Given the description of an element on the screen output the (x, y) to click on. 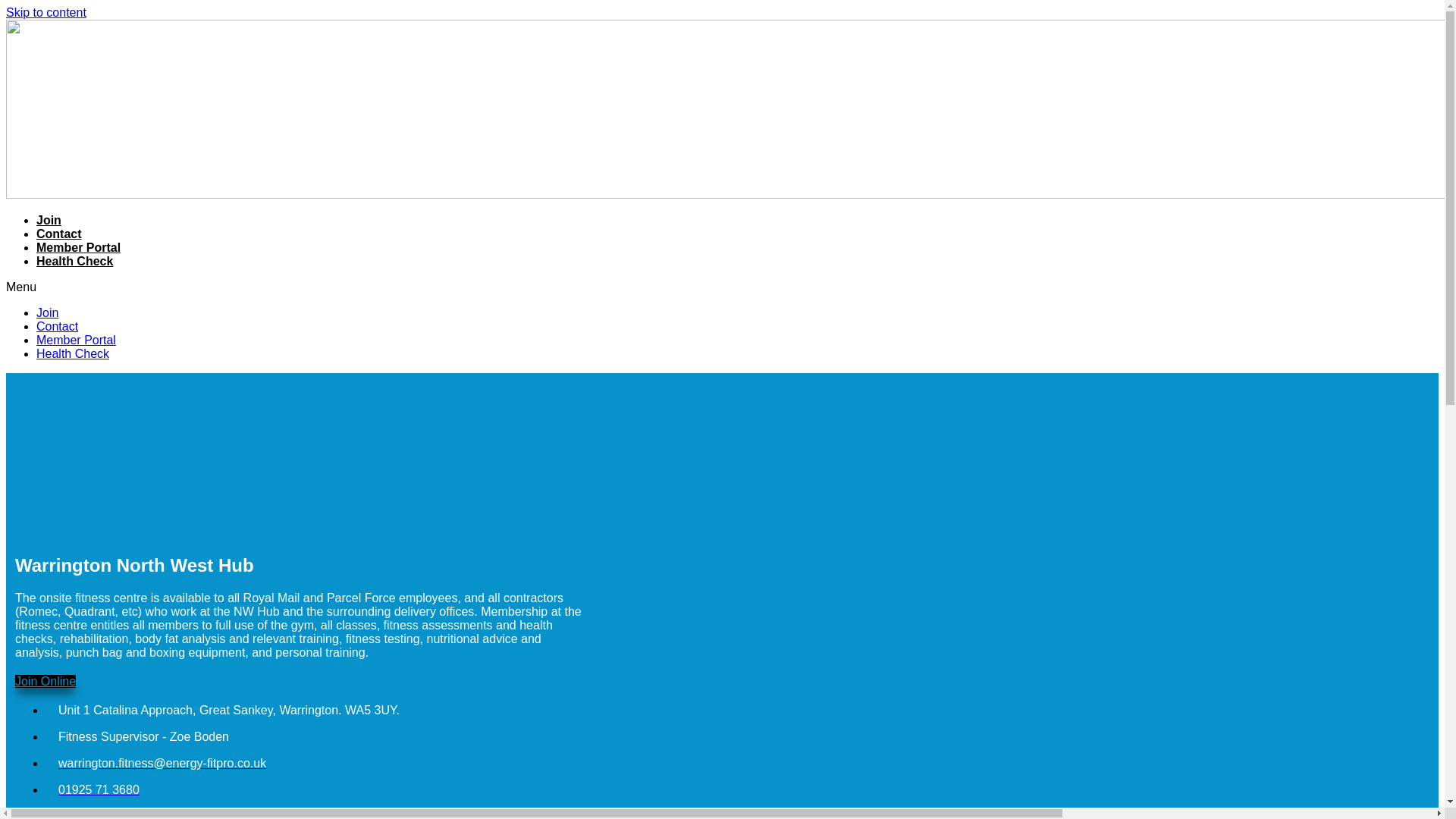
Skip to content (45, 11)
Health Check (74, 260)
Member Portal (78, 246)
Health Check (72, 353)
Contact (57, 326)
Member Portal (76, 339)
Contact (58, 233)
01925 71 3680 (92, 789)
07818 078287 (90, 814)
Join (48, 219)
